Given the description of an element on the screen output the (x, y) to click on. 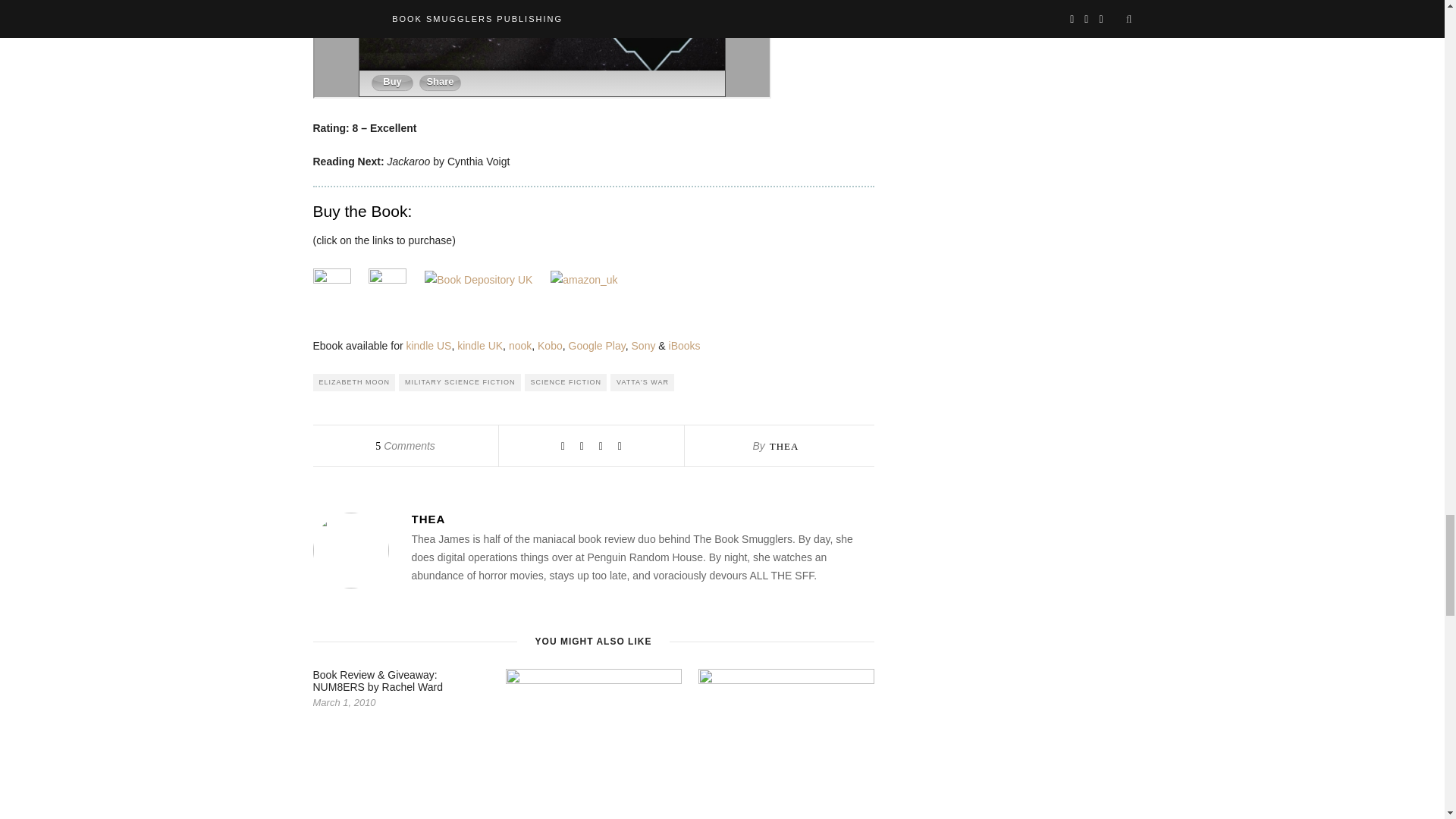
amazon button (331, 287)
VATTA'S WAR (642, 382)
5 Comments (405, 445)
Google Play (597, 345)
Posts by Thea (641, 518)
iBooks (684, 345)
MILITARY SCIENCE FICTION (459, 382)
ELIZABETH MOON (353, 382)
THEA (784, 446)
kindle US (428, 345)
nook (519, 345)
kindle UK (479, 345)
Sony (643, 345)
Kobo (549, 345)
THEA (641, 518)
